Given the description of an element on the screen output the (x, y) to click on. 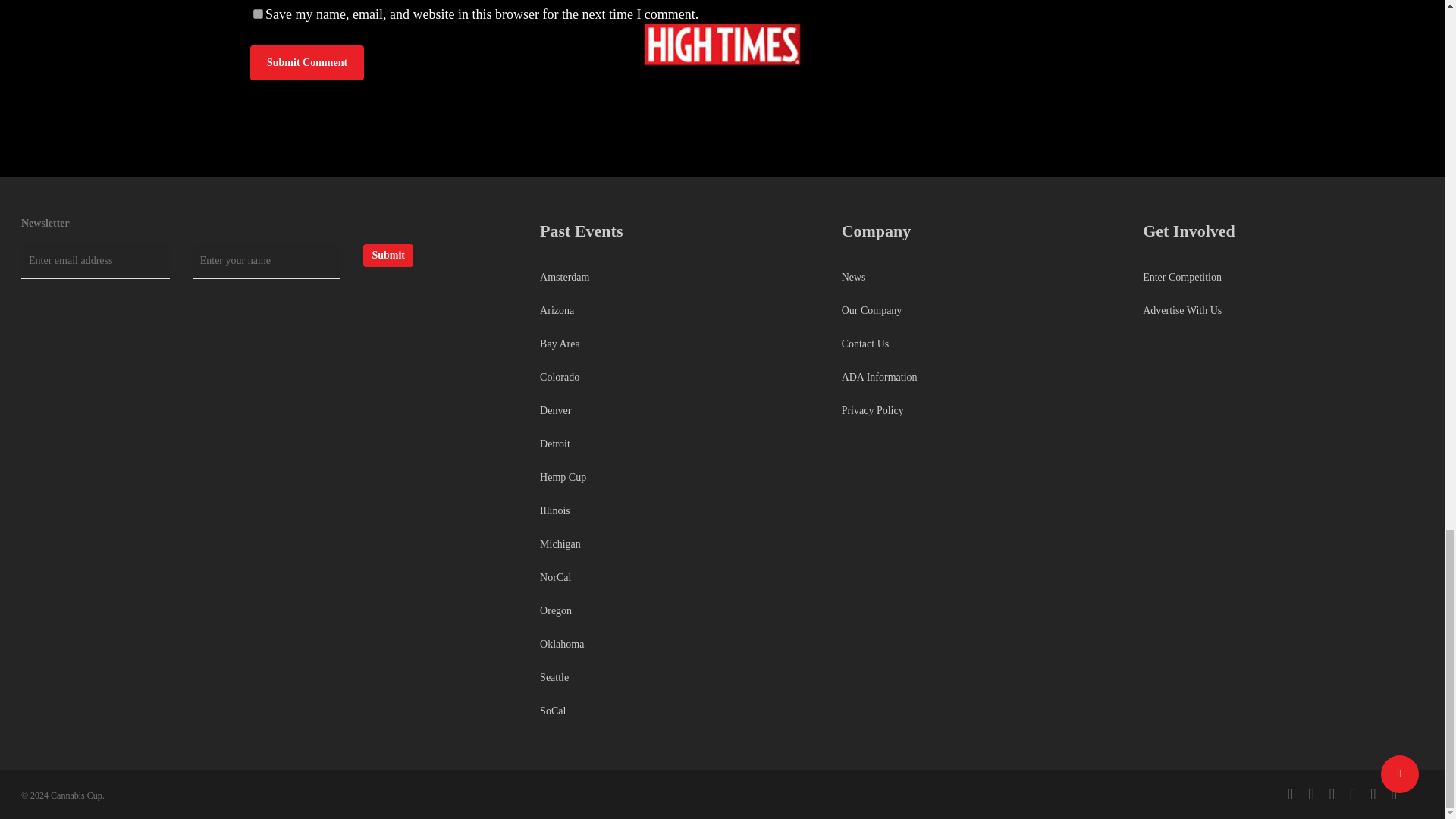
Past Events (581, 230)
Illinois (676, 510)
Submit (387, 255)
Arizona (676, 310)
Submit Comment (307, 62)
Denver (676, 410)
Submit Comment (307, 62)
Michigan (676, 544)
yes (258, 13)
Colorado (676, 377)
Hemp Cup (676, 477)
Detroit (676, 444)
Amsterdam (676, 280)
Bay Area (676, 344)
